Given the description of an element on the screen output the (x, y) to click on. 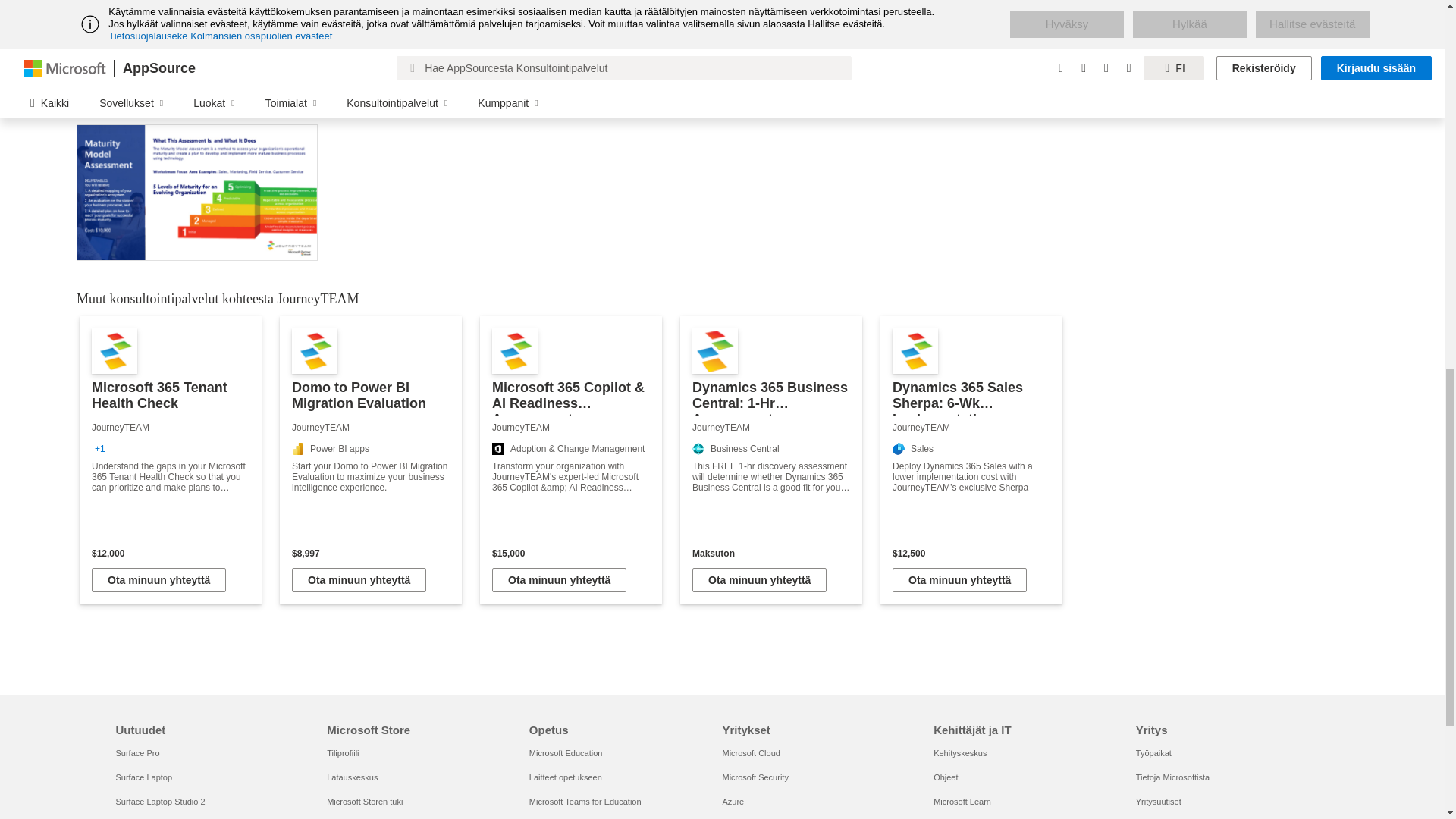
Maksuton (771, 552)
Surface Laptop (143, 777)
Surface Pro (136, 752)
